Given the description of an element on the screen output the (x, y) to click on. 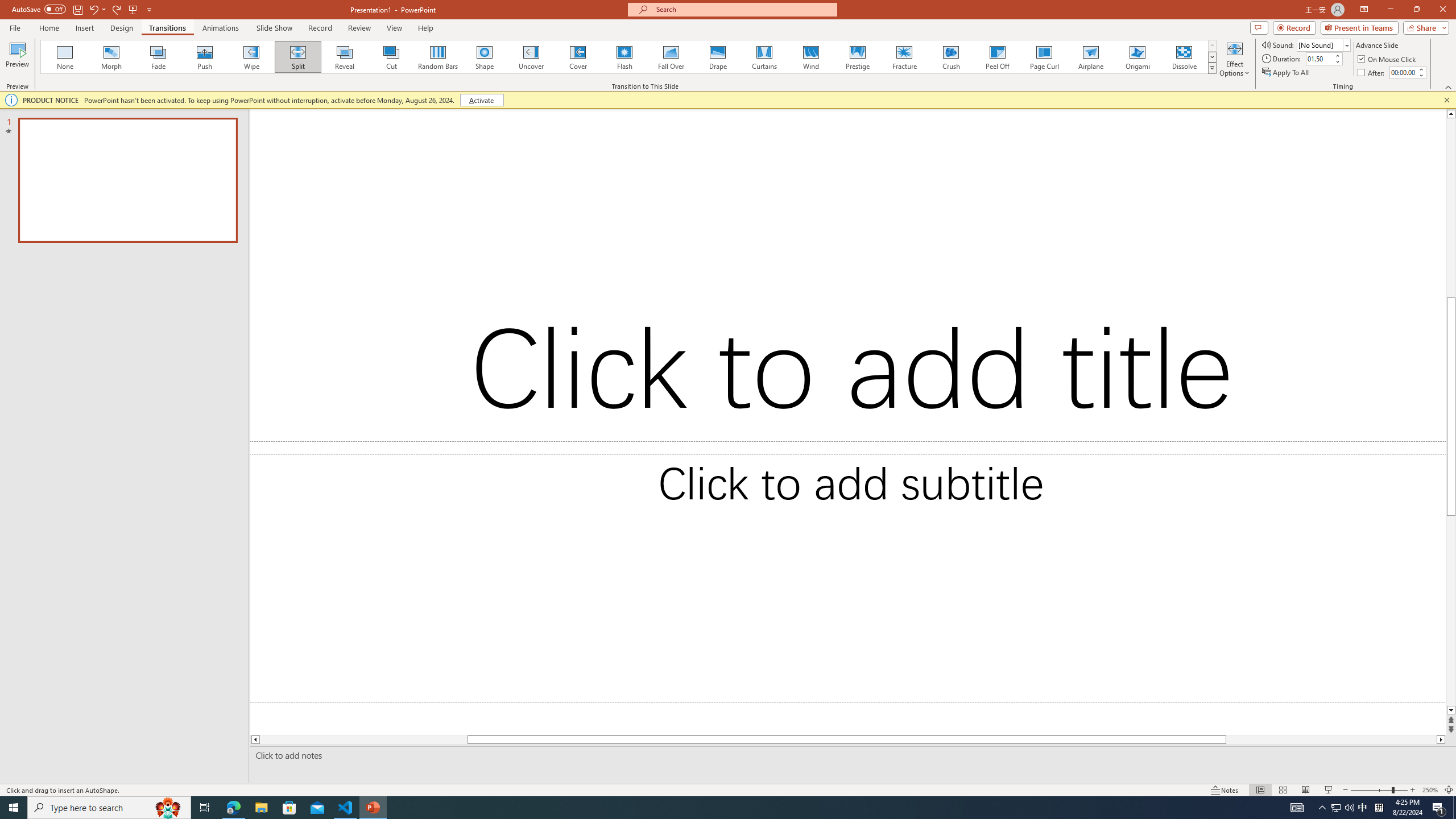
Peel Off (997, 56)
Cover (577, 56)
Row up (1212, 45)
Preview (17, 58)
Split (298, 56)
Open (1345, 44)
Transition Effects (1212, 67)
Drape (717, 56)
